Given the description of an element on the screen output the (x, y) to click on. 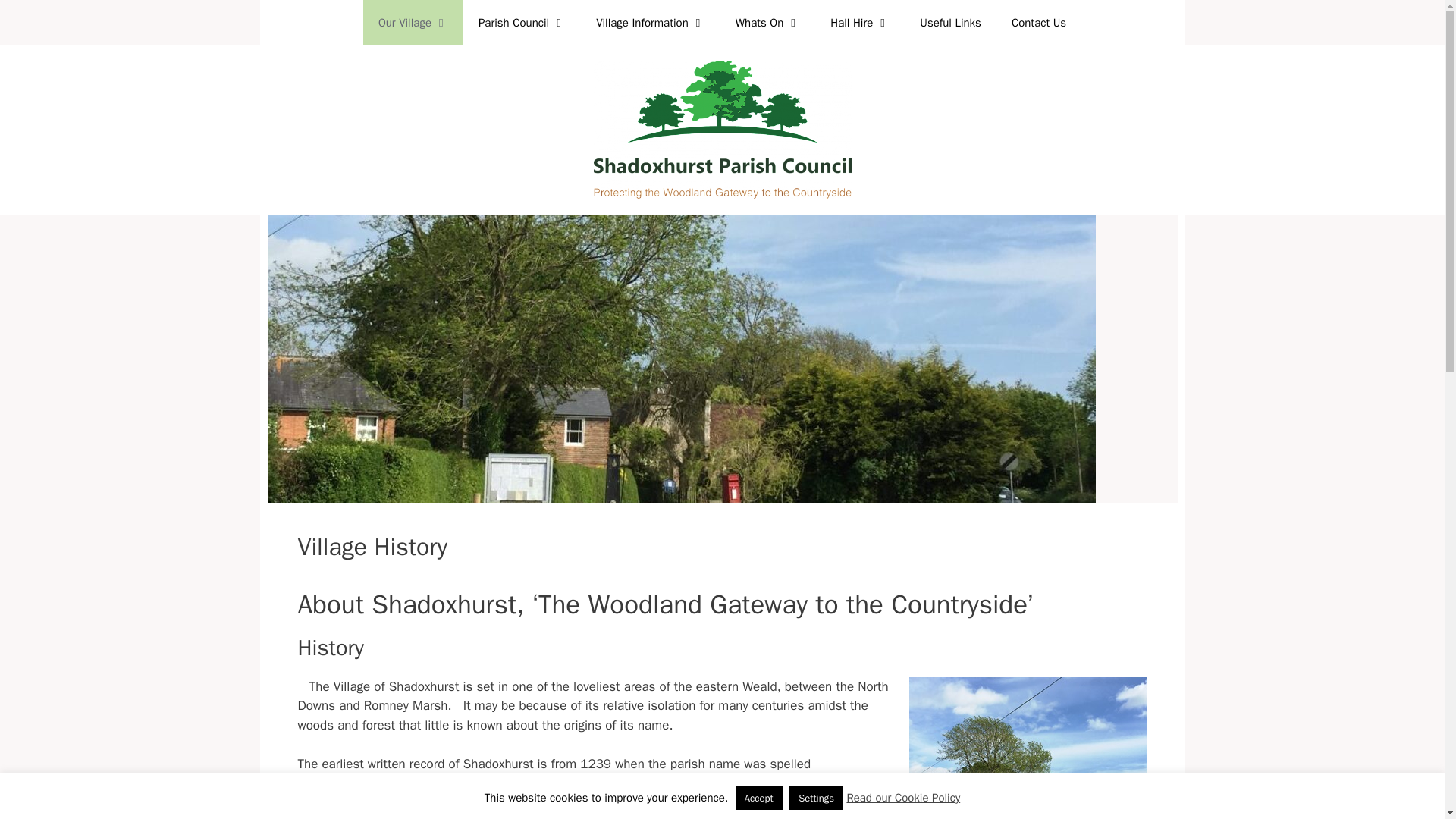
Parish Council (521, 22)
Our Village (412, 22)
Village Information (650, 22)
